Given the description of an element on the screen output the (x, y) to click on. 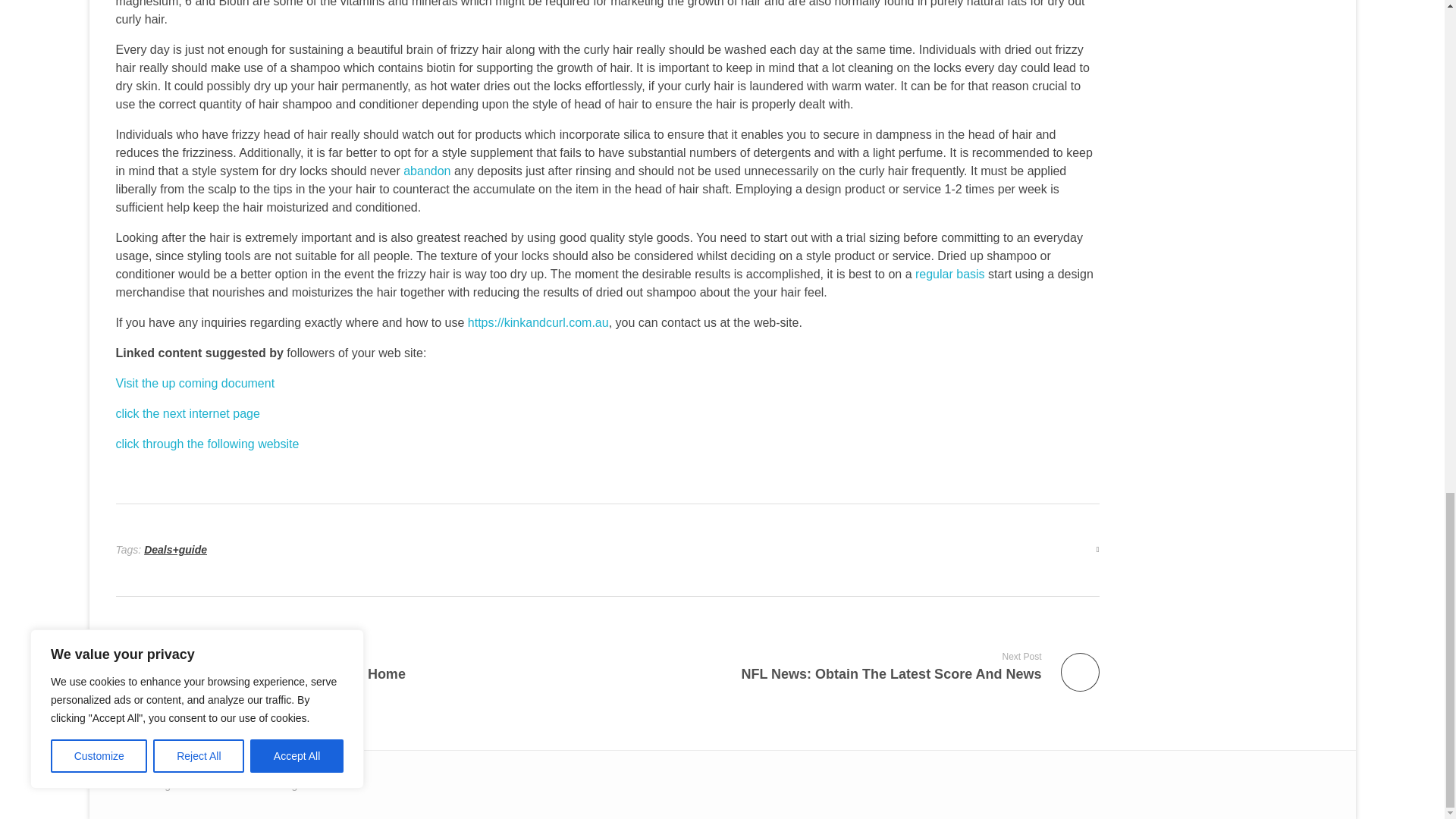
click through the following website (206, 443)
abandon (426, 170)
Visit the up coming document (355, 666)
regular basis (195, 382)
click the next internet page (859, 666)
